Given the description of an element on the screen output the (x, y) to click on. 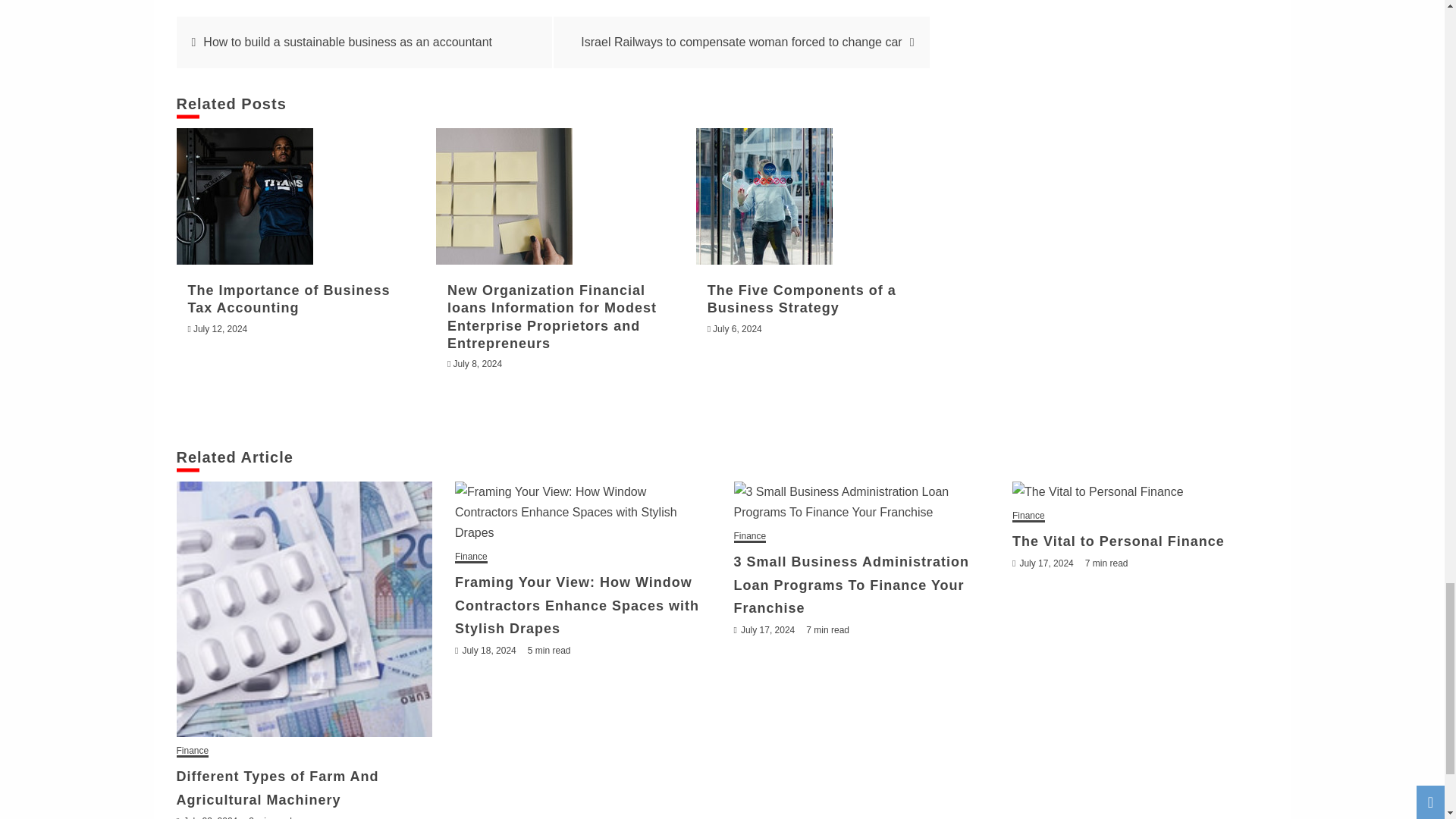
The Five Components of a Business Strategy (763, 195)
The Importance of Business Tax Accounting (244, 195)
